Given the description of an element on the screen output the (x, y) to click on. 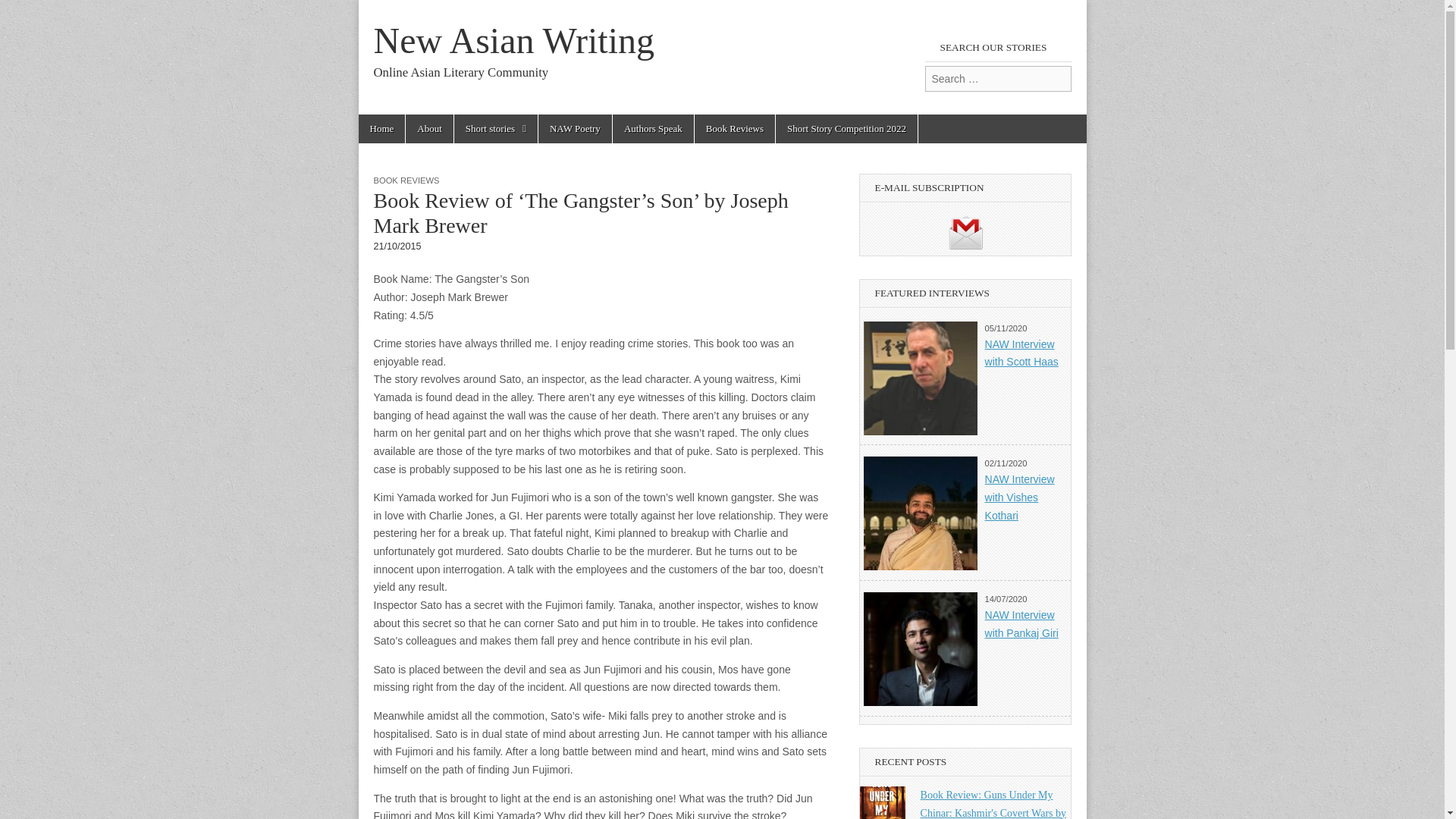
About (429, 128)
New Asian Writing (512, 40)
BOOK REVIEWS (405, 180)
NAW Poetry (574, 128)
Book Reviews (734, 128)
NAW Interview with Scott Haas (1021, 353)
NAW Interview with Vishes Kothari (1019, 496)
New Asian Writing (512, 40)
NAW Interview with Pankaj Giri (1021, 624)
Authors Speak (653, 128)
Short stories (495, 128)
Short Story Competition 2022 (846, 128)
